Given the description of an element on the screen output the (x, y) to click on. 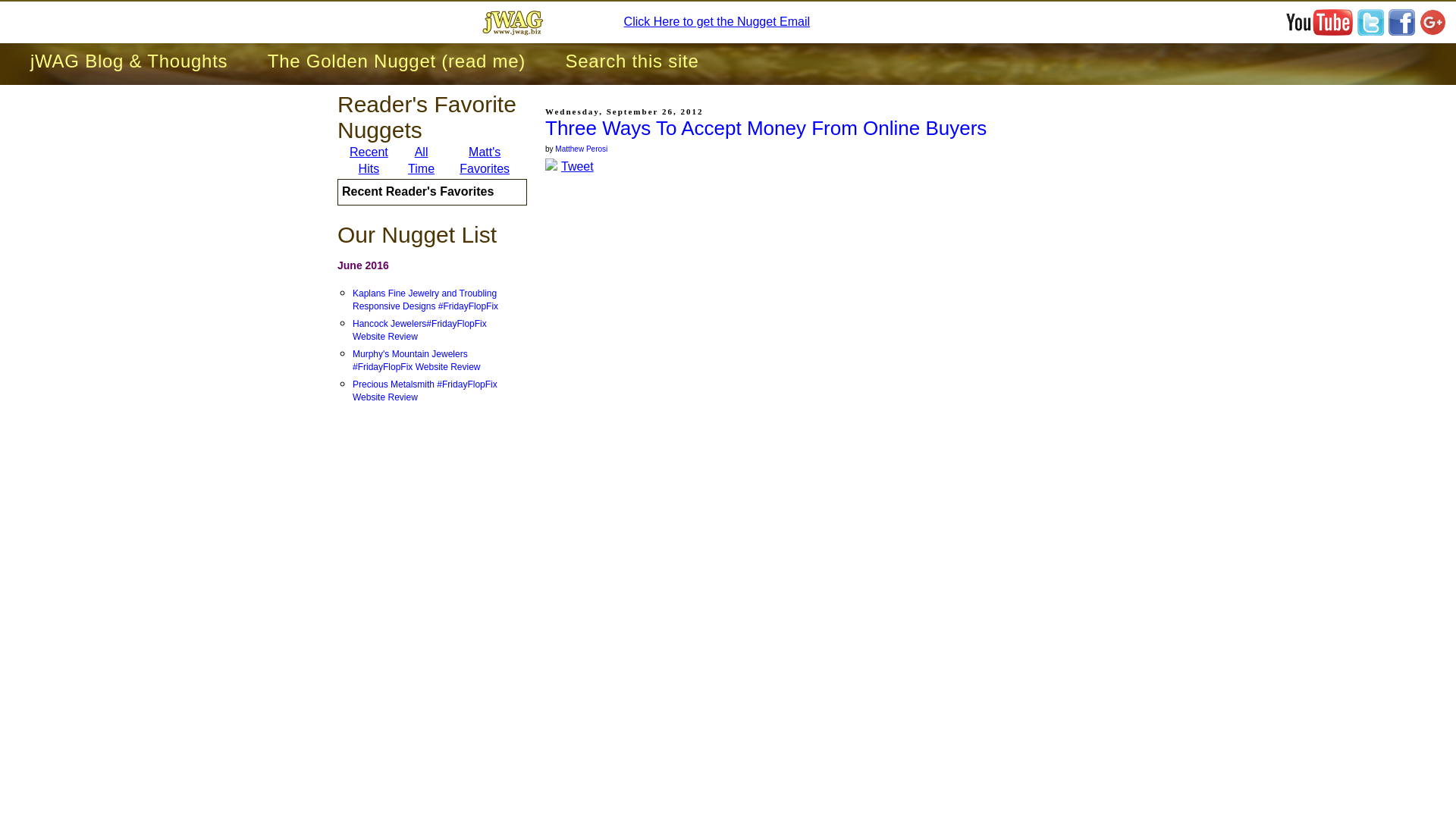
Tweet (577, 165)
Click Here to get the Nugget Email (716, 21)
Matthew Perosi (580, 148)
Matt's Favorites (484, 160)
Three Ways To Accept Money From Online Buyers (765, 128)
Search this site (632, 60)
Search this site (632, 60)
Recent Hits (368, 160)
